Given the description of an element on the screen output the (x, y) to click on. 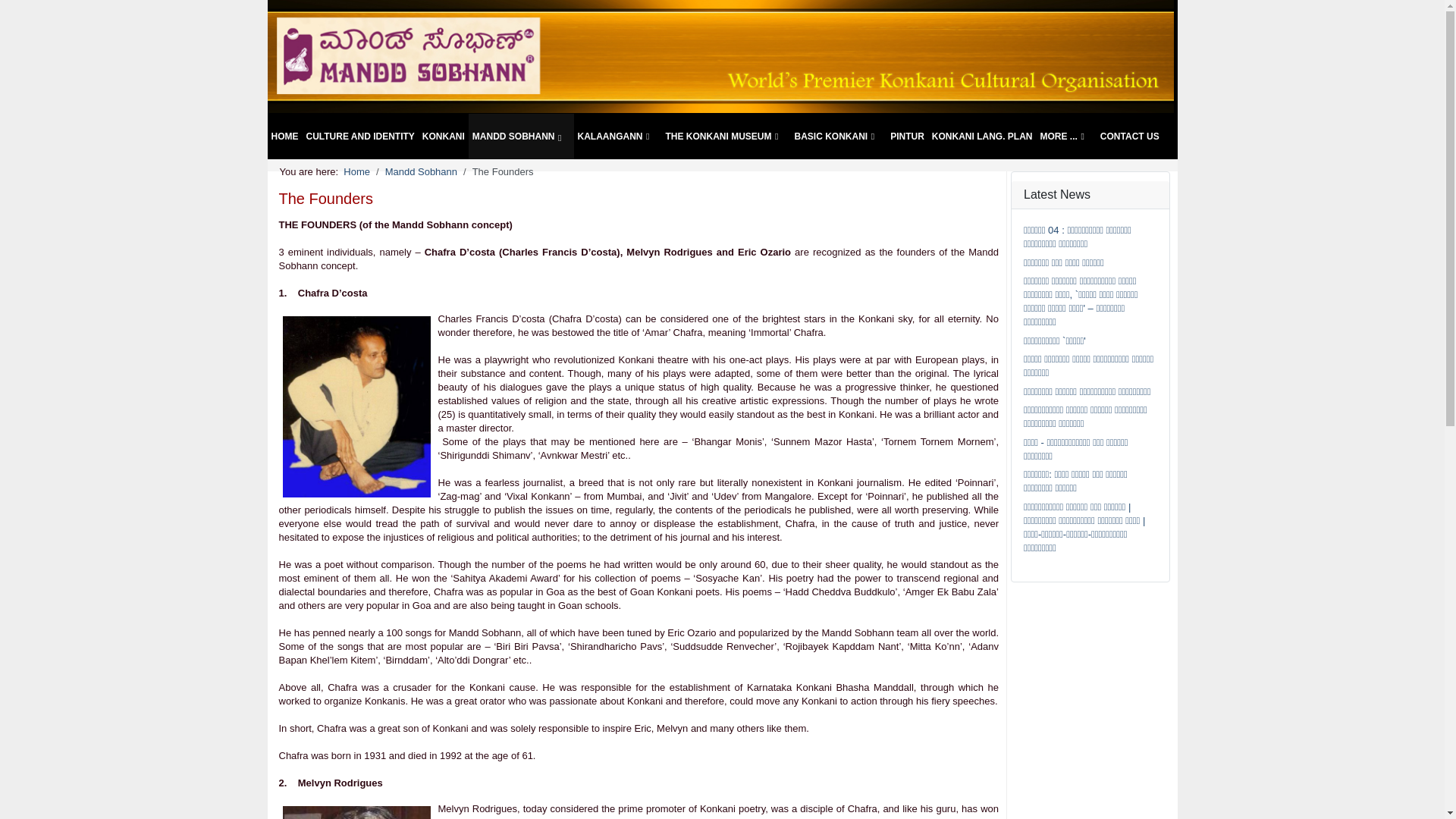
KONKANI (443, 135)
PINTUR (907, 135)
KALAANGANN (617, 135)
CULTURE AND IDENTITY (359, 135)
BASIC KONKANI (838, 135)
THE KONKANI MUSEUM (725, 135)
MANDD SOBHANN (520, 135)
